Given the description of an element on the screen output the (x, y) to click on. 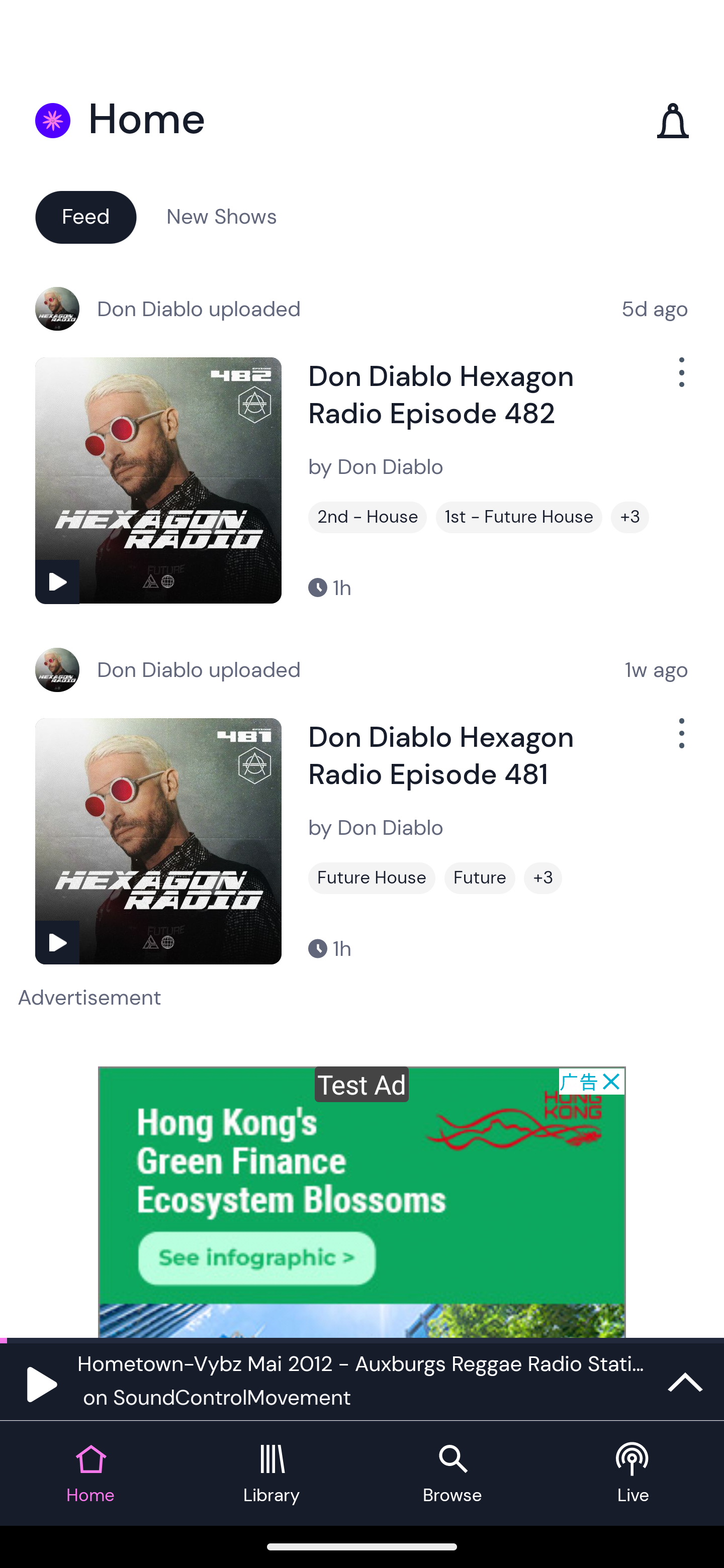
Feed (85, 216)
New Shows (221, 216)
Show Options Menu Button (679, 379)
2nd - House (367, 517)
1st - Future House (518, 517)
Show Options Menu Button (679, 740)
Future House (371, 877)
Future (479, 877)
Advertisement (361, 1201)
Home tab Home (90, 1473)
Library tab Library (271, 1473)
Browse tab Browse (452, 1473)
Live tab Live (633, 1473)
